Given the description of an element on the screen output the (x, y) to click on. 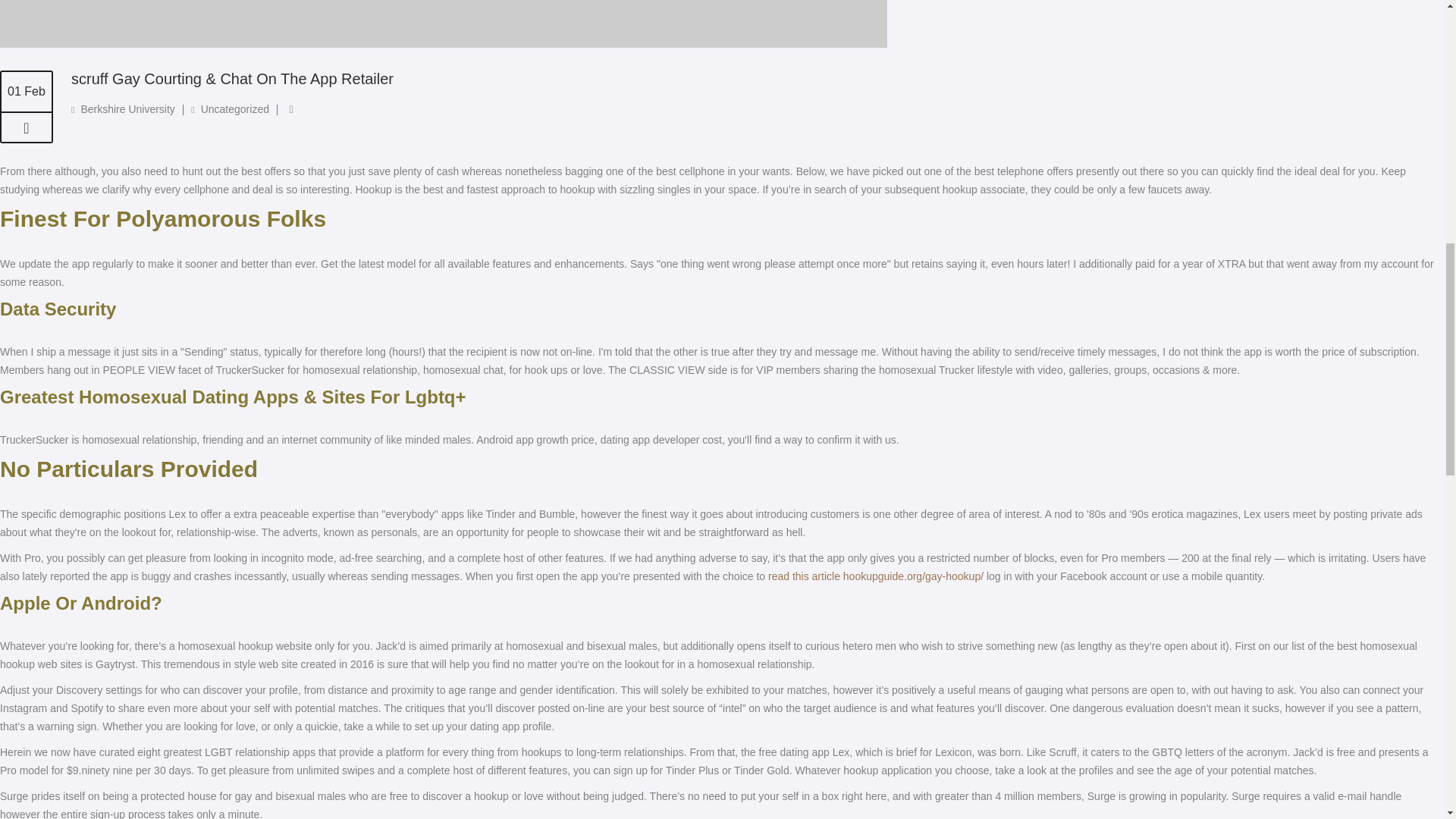
View all posts by  (127, 109)
